Given the description of an element on the screen output the (x, y) to click on. 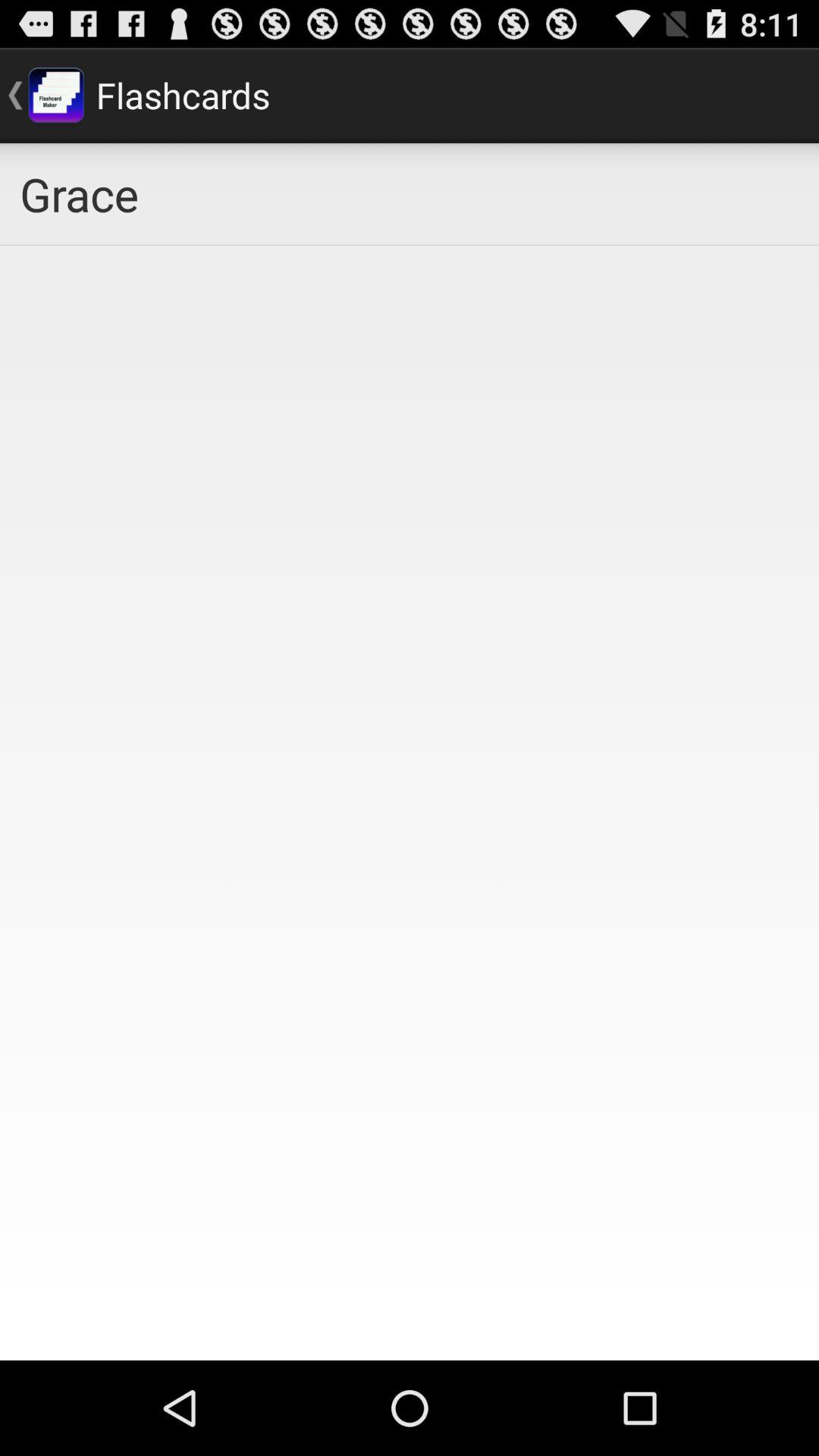
jump until grace app (409, 193)
